Given the description of an element on the screen output the (x, y) to click on. 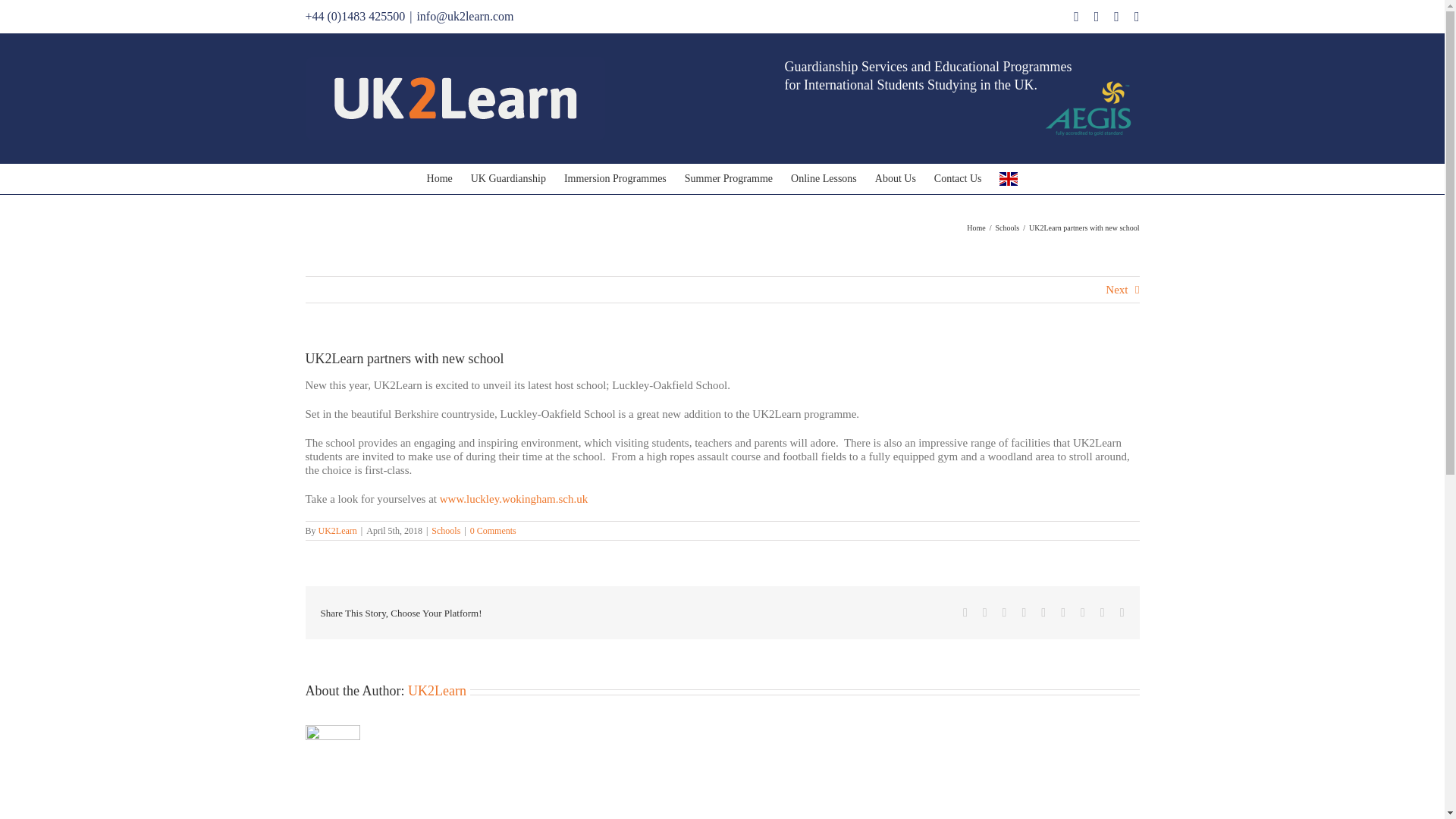
About Us (895, 178)
Online Lessons (823, 178)
Summer Programme (728, 178)
UK Guardianship (508, 178)
Posts by UK2Learn (337, 530)
Contact Us (957, 178)
Immersion Programmes (615, 178)
